Given the description of an element on the screen output the (x, y) to click on. 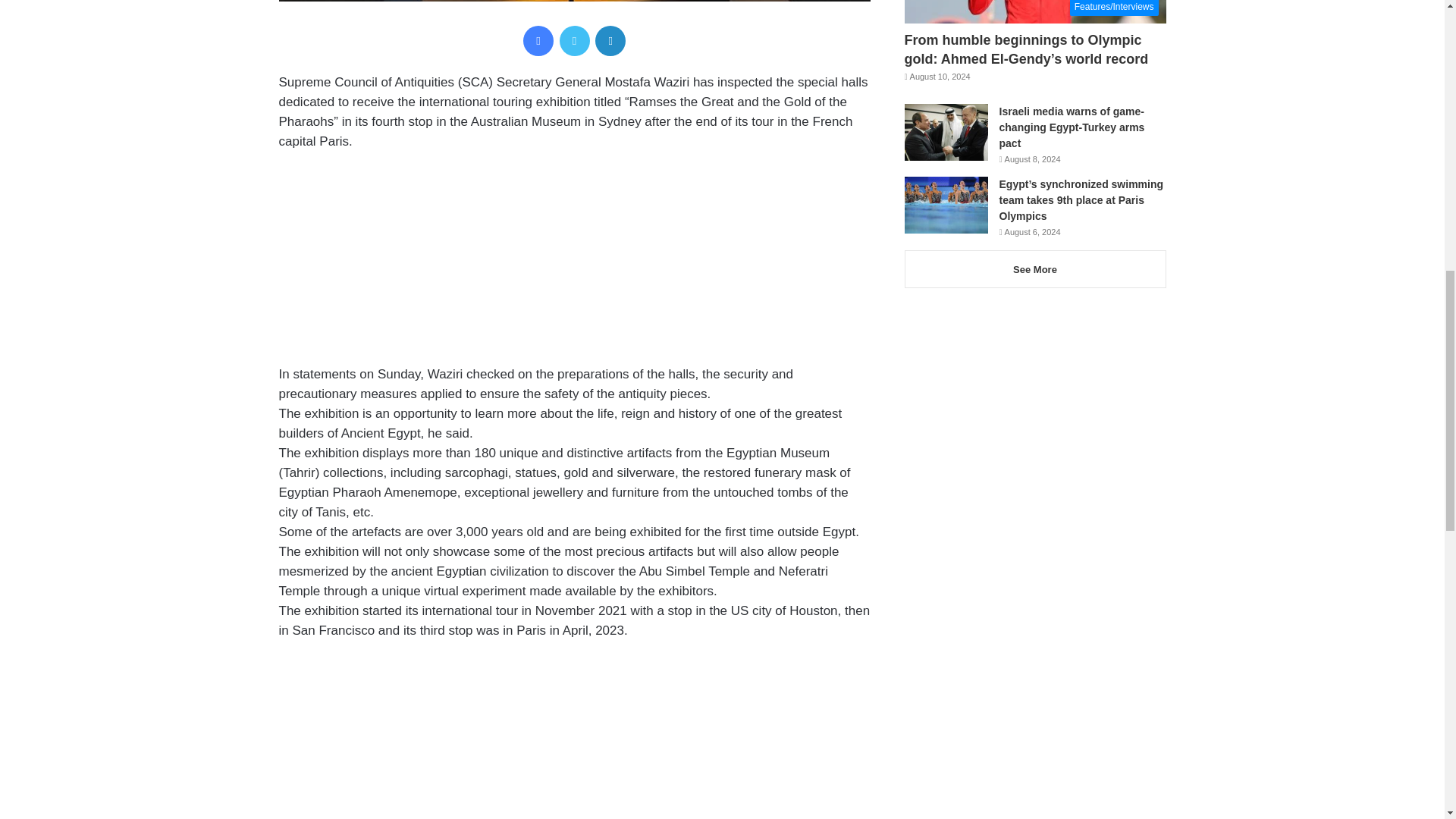
LinkedIn (610, 40)
Twitter (574, 40)
Facebook (537, 40)
LinkedIn (610, 40)
Facebook (537, 40)
Twitter (574, 40)
